Given the description of an element on the screen output the (x, y) to click on. 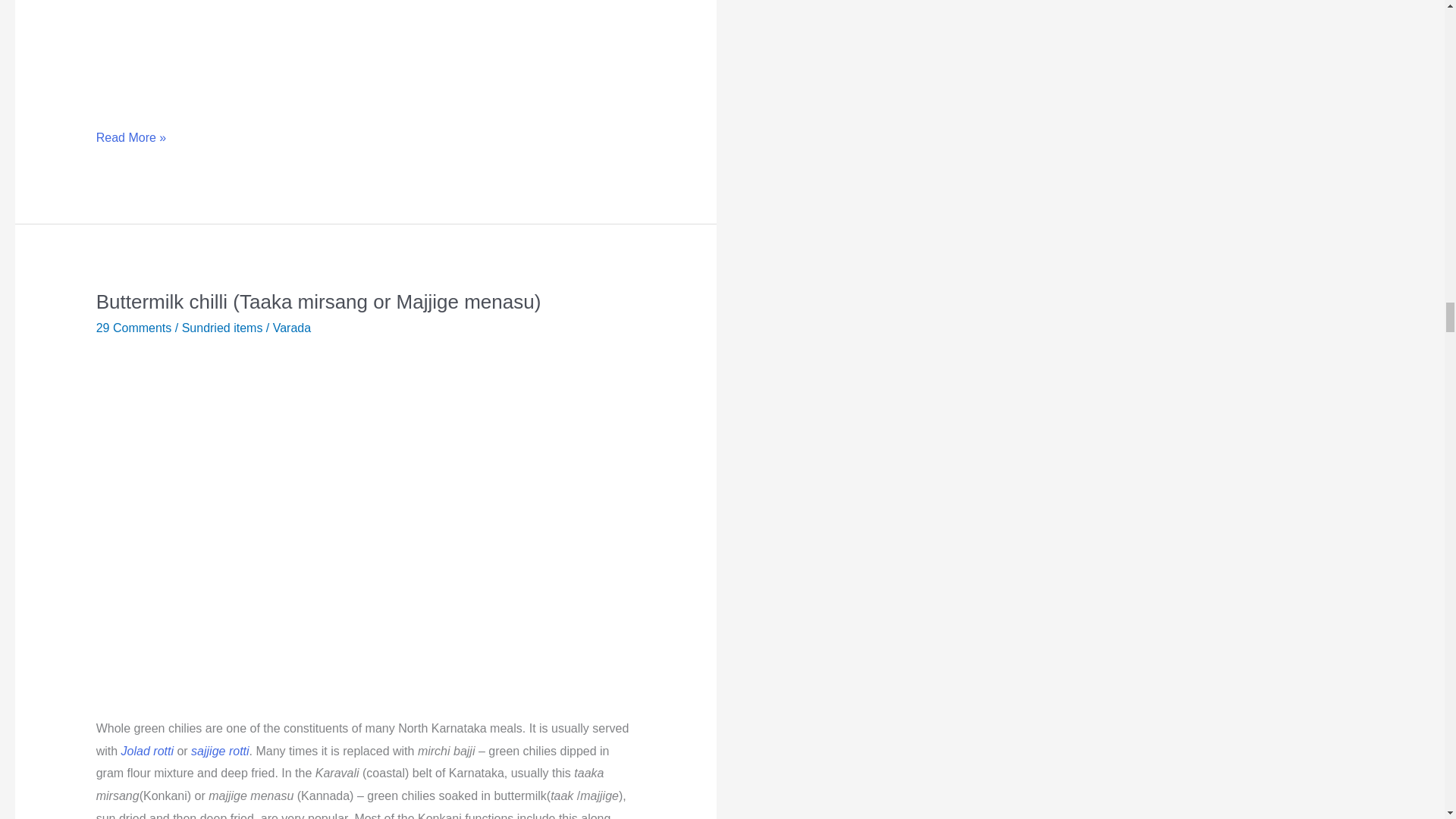
tendli kachri5 (365, 54)
thaaka-mirsang (365, 523)
View all posts by Varada (292, 327)
